Given the description of an element on the screen output the (x, y) to click on. 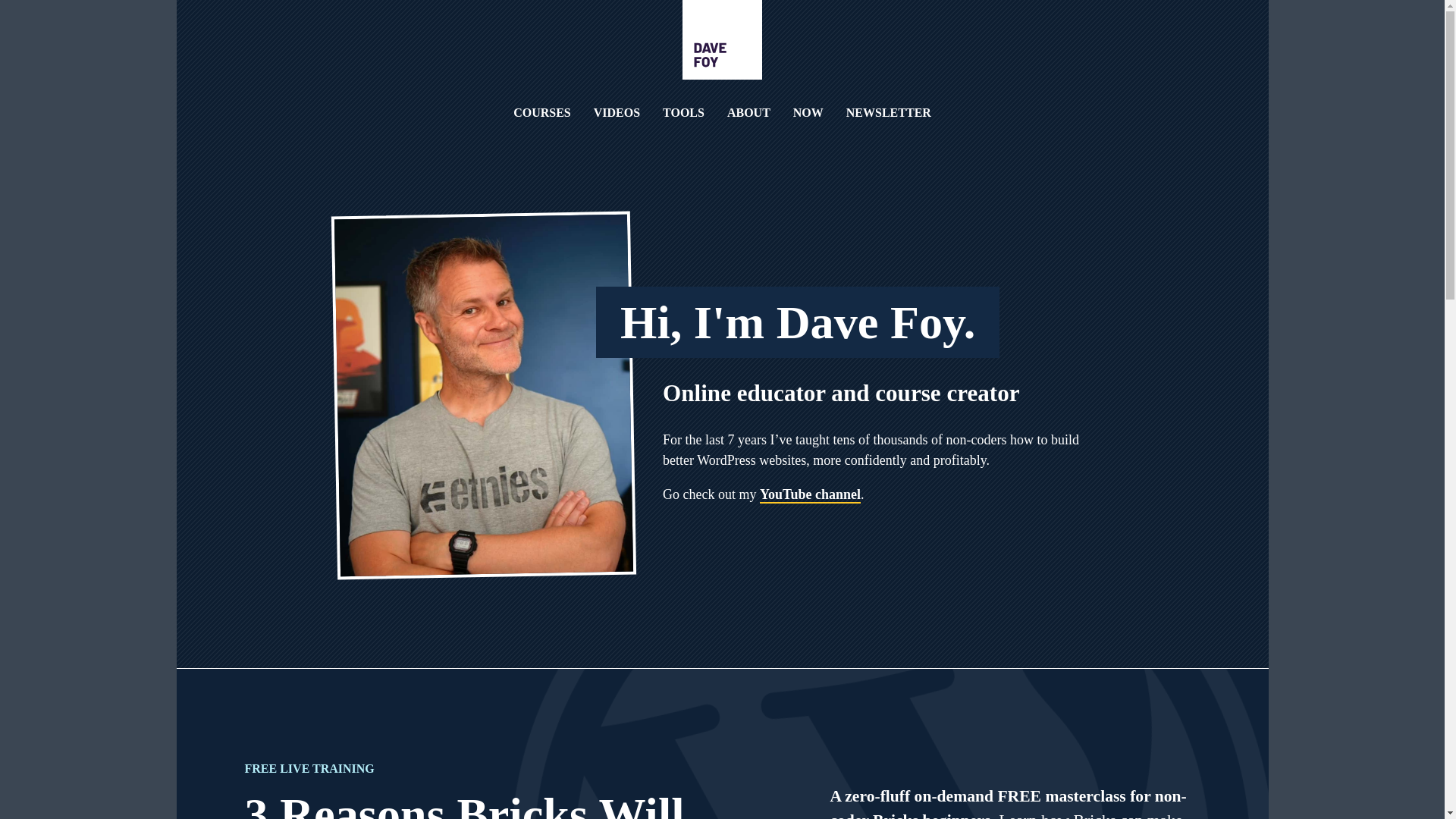
NOW (808, 113)
NEWSLETTER (888, 113)
ABOUT (748, 113)
TOOLS (683, 113)
YouTube channel (810, 494)
COURSES (541, 113)
VIDEOS (617, 113)
